Given the description of an element on the screen output the (x, y) to click on. 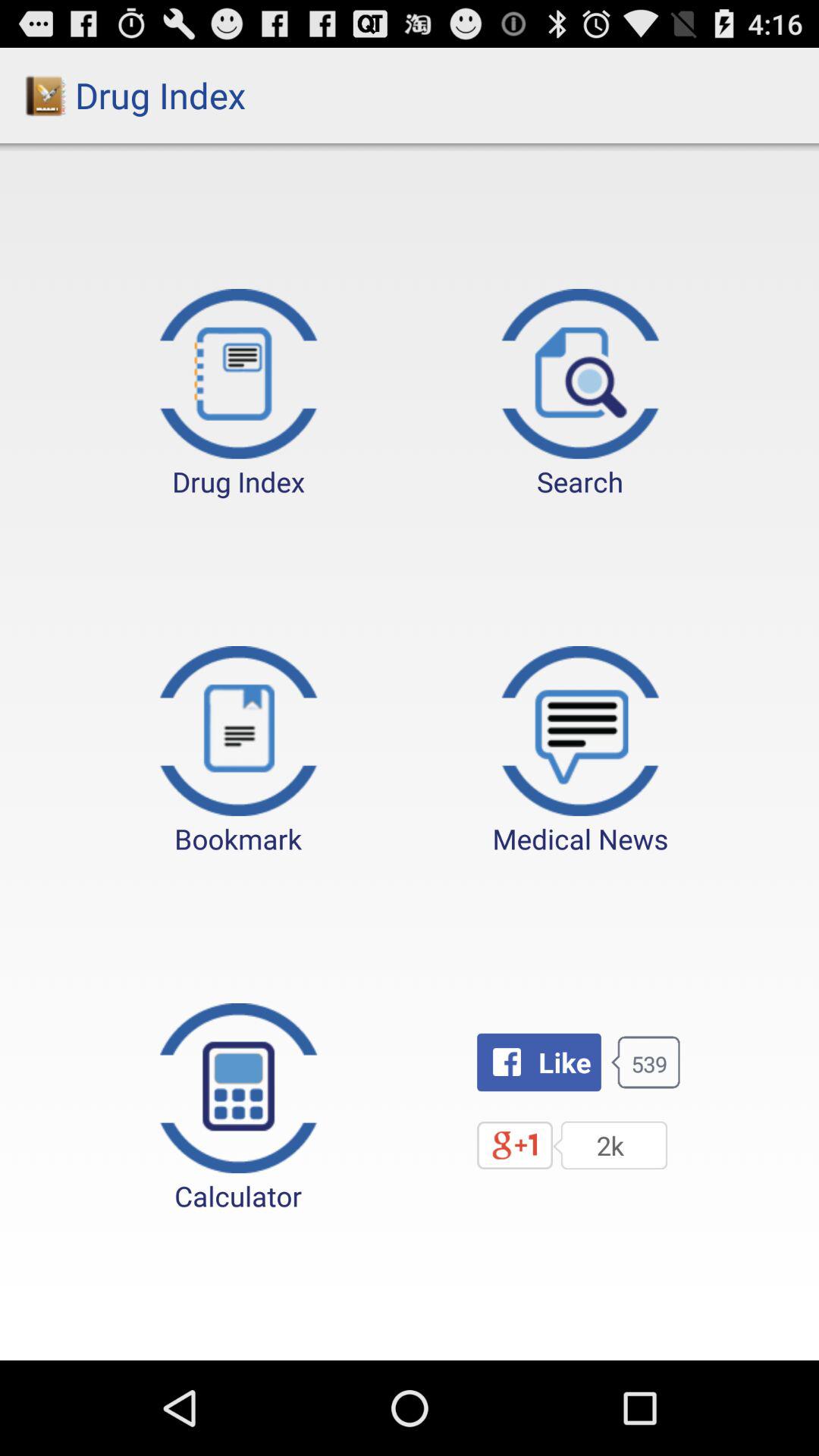
choose the item below drug index button (238, 751)
